Given the description of an element on the screen output the (x, y) to click on. 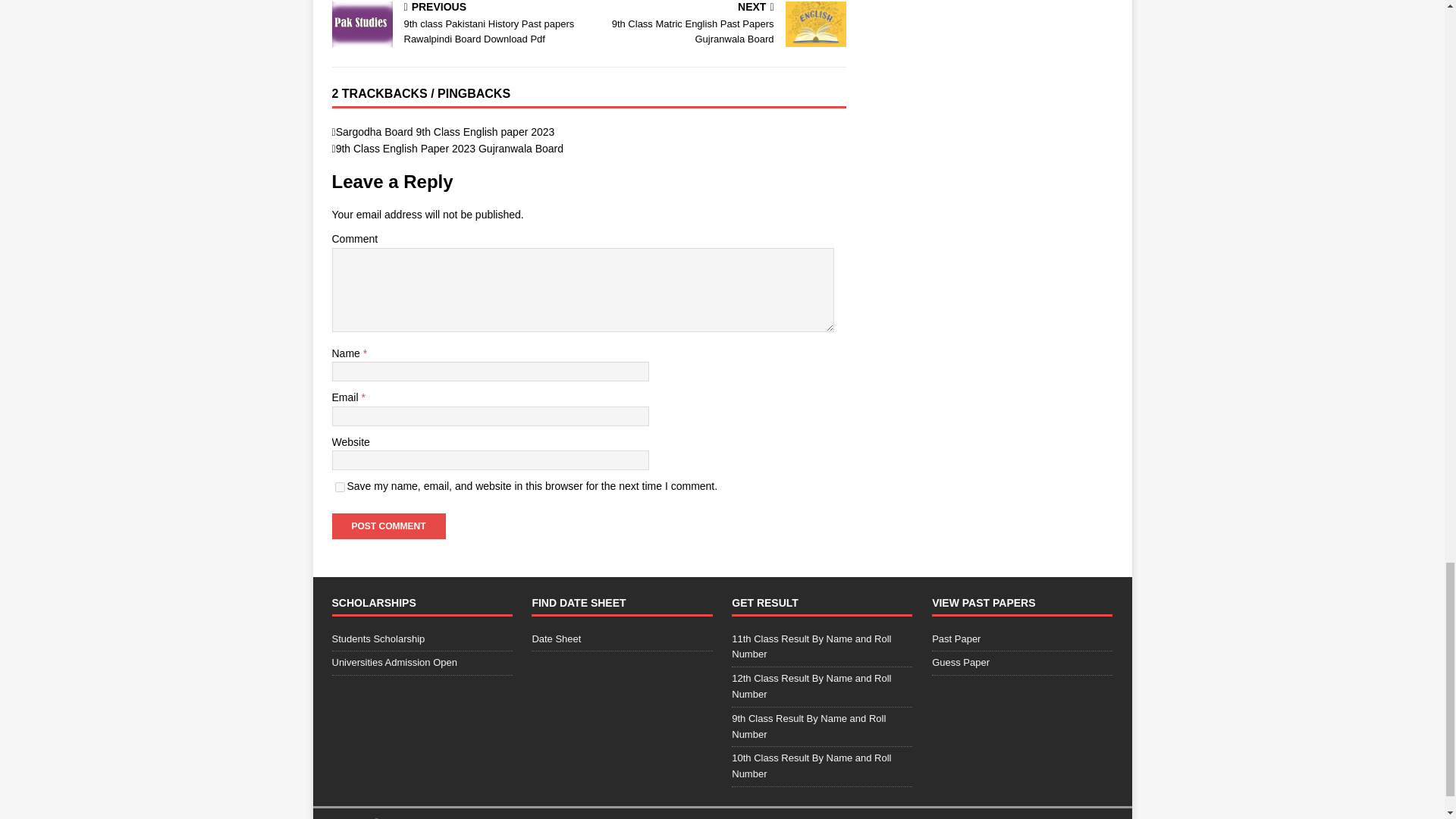
Post Comment (388, 525)
9th Class English Paper 2023 Gujranwala Board (720, 24)
Sargodha Board 9th Class English paper 2023 (449, 148)
yes (445, 132)
Post Comment (339, 487)
